Given the description of an element on the screen output the (x, y) to click on. 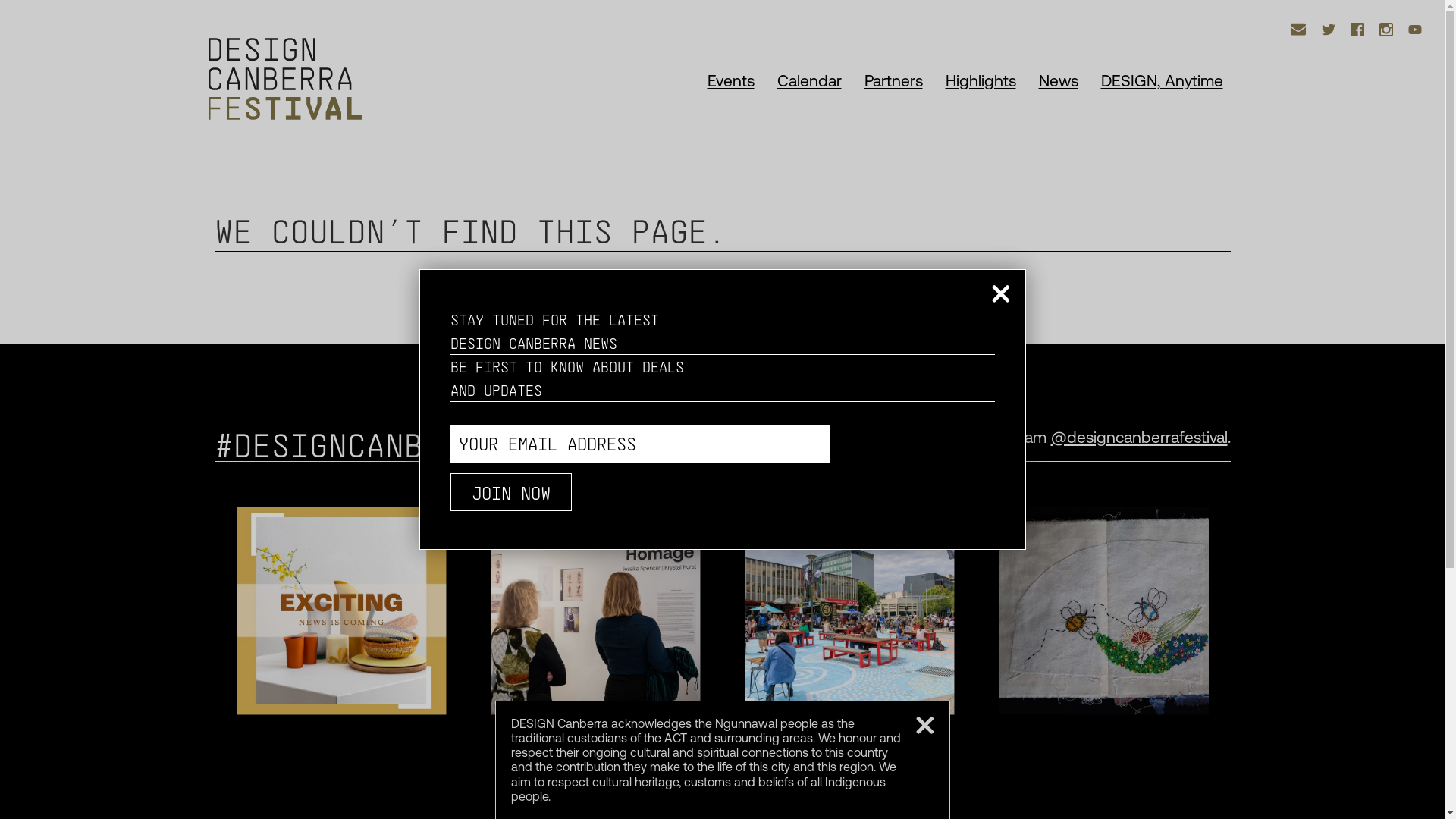
Close subscription popup Element type: text (1000, 293)
News Element type: text (1058, 80)
Highlights Element type: text (979, 80)
Follow us on Twitter Element type: text (1328, 29)
Click here to return home Element type: text (762, 293)
DESIGN, Anytime Element type: text (1161, 80)
Events Element type: text (730, 80)
Follow us on Facebook Element type: text (1357, 29)
Follow us on YouTube Element type: text (1414, 29)
JOIN NOW Element type: text (510, 492)
Sign up Element type: text (1298, 29)
@designcanberrafestival Element type: text (1139, 436)
#DESIGNCANBERRA Element type: text (355, 443)
Calendar Element type: text (808, 80)
Partners Element type: text (893, 80)
Follow us on Instagram Element type: text (1386, 29)
